Given the description of an element on the screen output the (x, y) to click on. 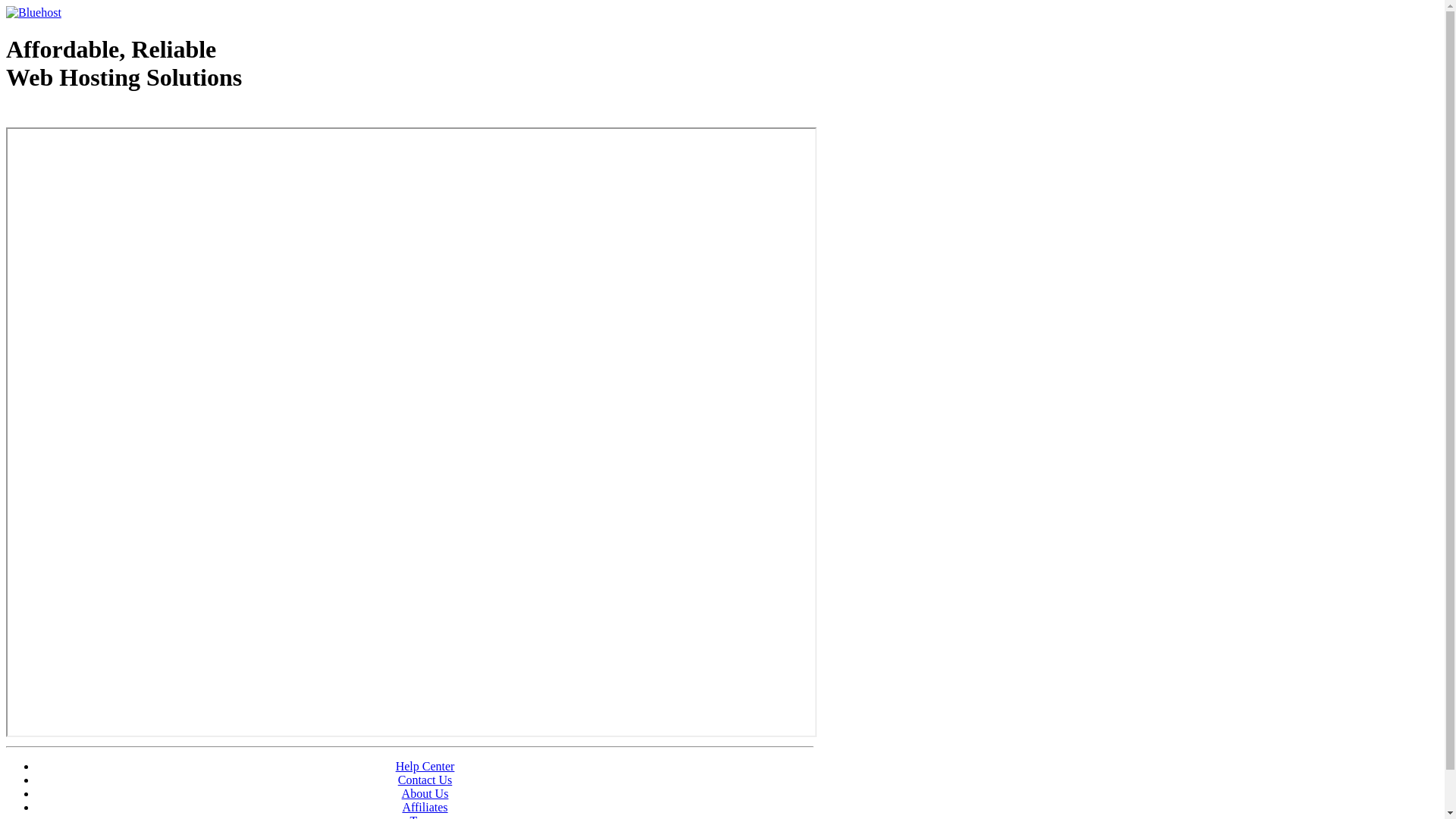
Contact Us Element type: text (425, 779)
Help Center Element type: text (425, 765)
Affiliates Element type: text (424, 806)
About Us Element type: text (424, 793)
Web Hosting - courtesy of www.bluehost.com Element type: text (94, 115)
